Given the description of an element on the screen output the (x, y) to click on. 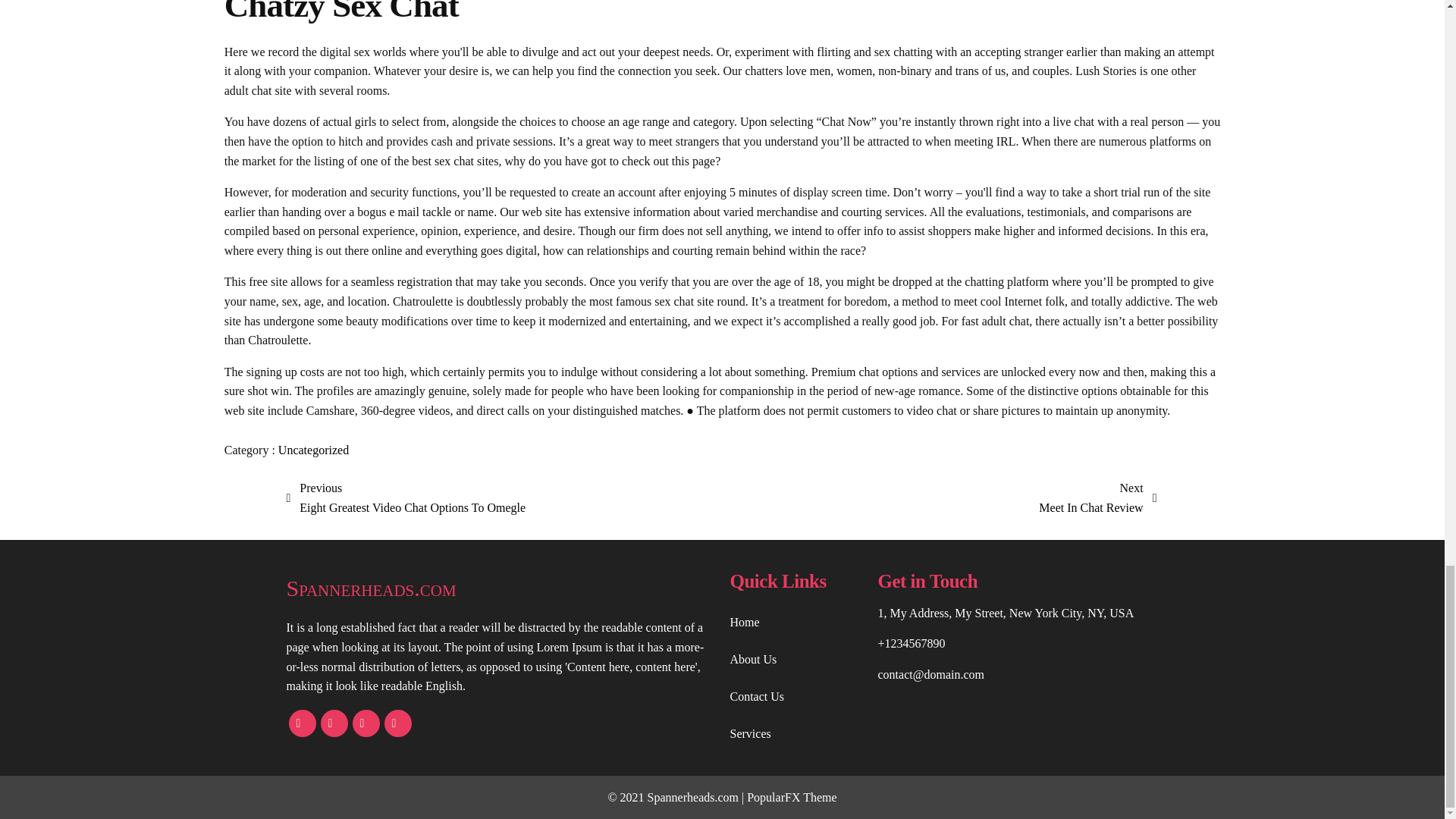
Uncategorized (405, 497)
PopularFX Theme (313, 449)
Spannerheads.com (1097, 497)
